Given the description of an element on the screen output the (x, y) to click on. 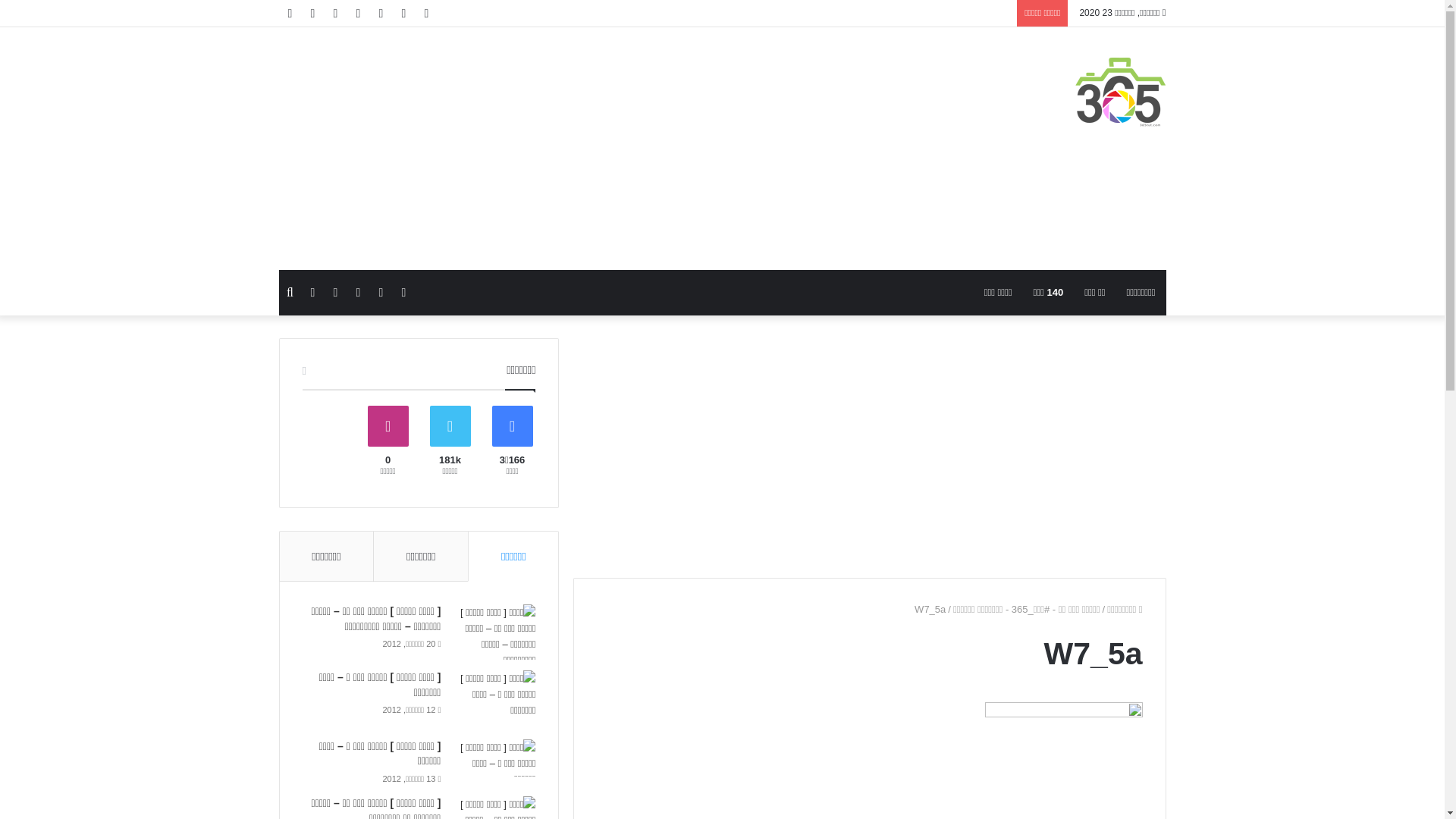
Advertisement Element type: hover (868, 444)
Advertisement Element type: hover (570, 148)
365tut Element type: hover (1120, 91)
